Given the description of an element on the screen output the (x, y) to click on. 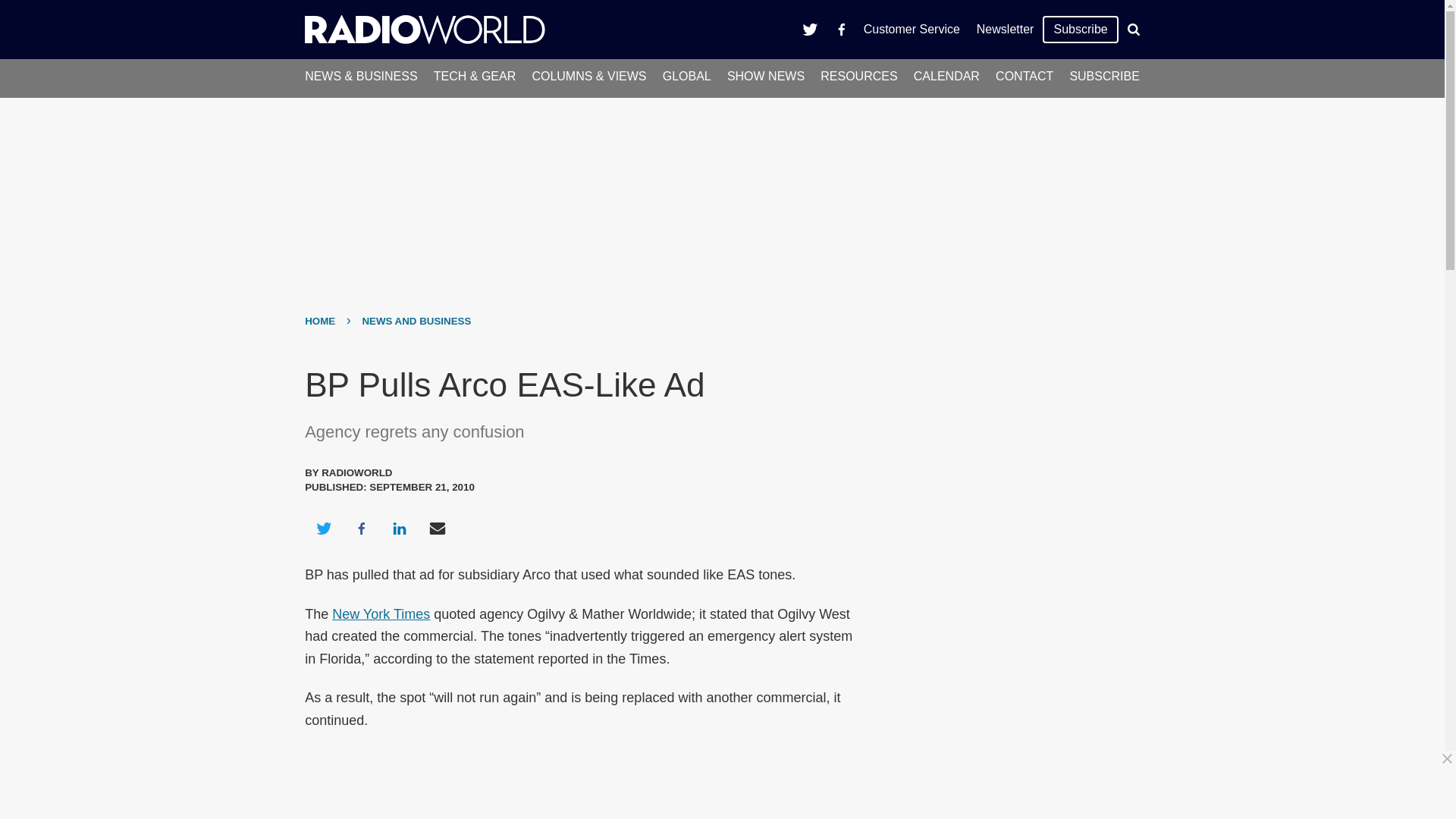
Customer Service (912, 29)
Advertisement (727, 785)
Share on Facebook (361, 528)
Newsletter (1005, 29)
Share on Twitter (323, 528)
Share via Email (438, 528)
Share on LinkedIn (399, 528)
Advertisement (1005, 461)
